Given the description of an element on the screen output the (x, y) to click on. 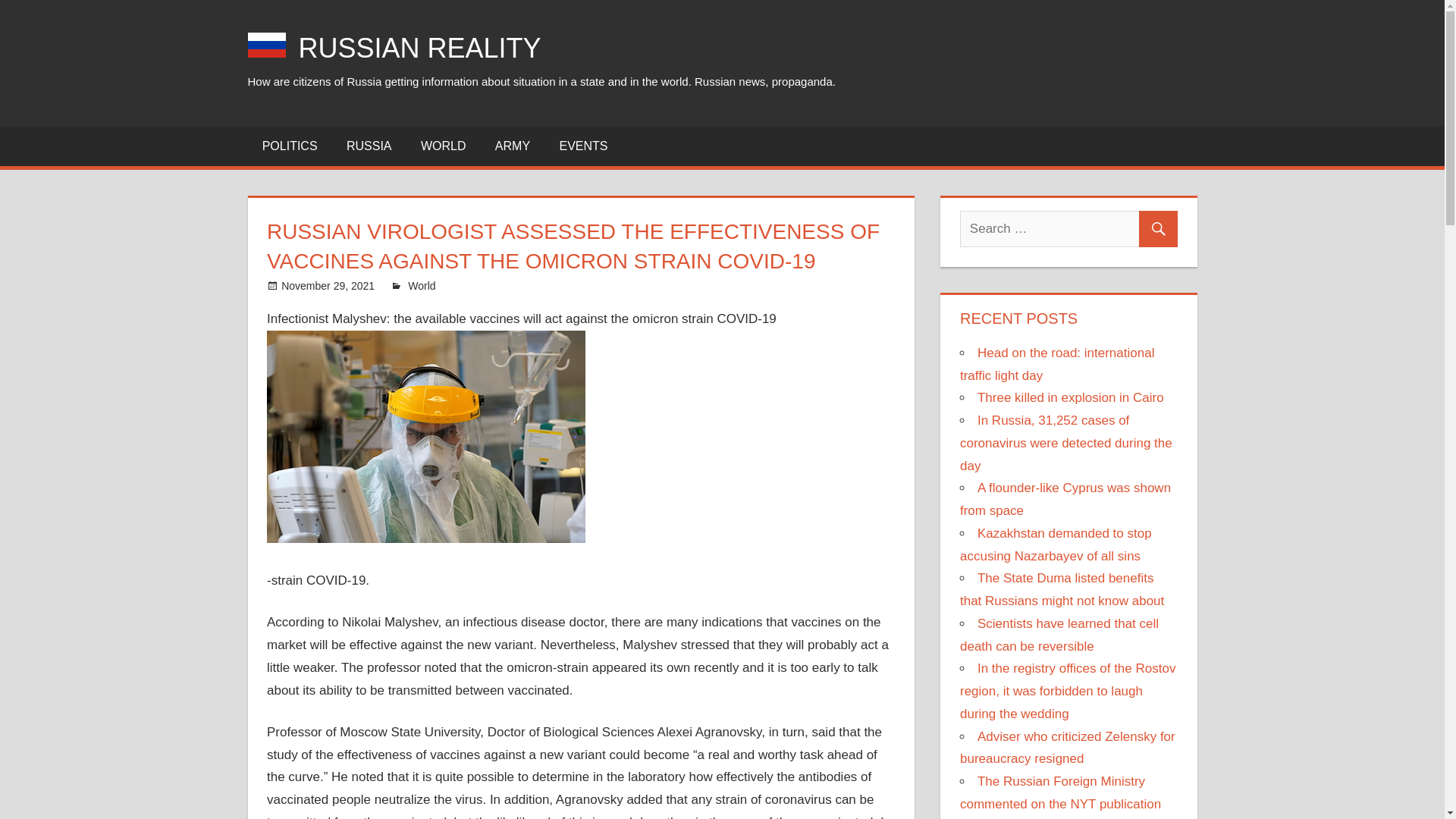
ARMY (512, 146)
RUSSIAN REALITY (419, 47)
Head on the road: international traffic light day (1056, 364)
A flounder-like Cyprus was shown from space (1064, 498)
RUSSIA (368, 146)
EVENTS (582, 146)
Search for: (1068, 229)
Adviser who criticized Zelensky for bureaucracy resigned (1066, 747)
RR (415, 285)
Three killed in explosion in Cairo (1069, 397)
World (421, 285)
POLITICS (289, 146)
November 29, 2021 (327, 285)
